Given the description of an element on the screen output the (x, y) to click on. 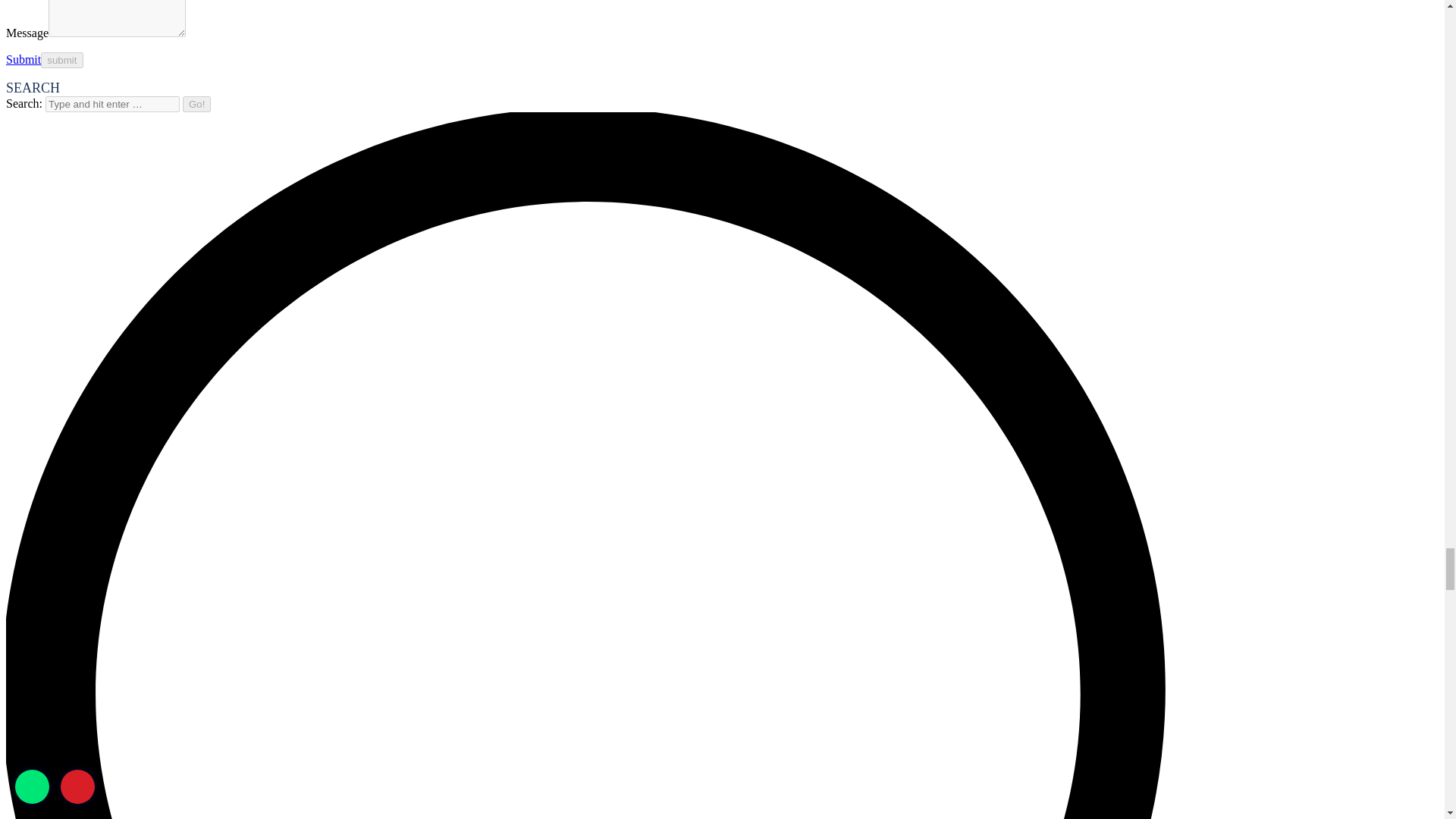
submit (61, 59)
Go! (197, 104)
Go! (197, 104)
